Given the description of an element on the screen output the (x, y) to click on. 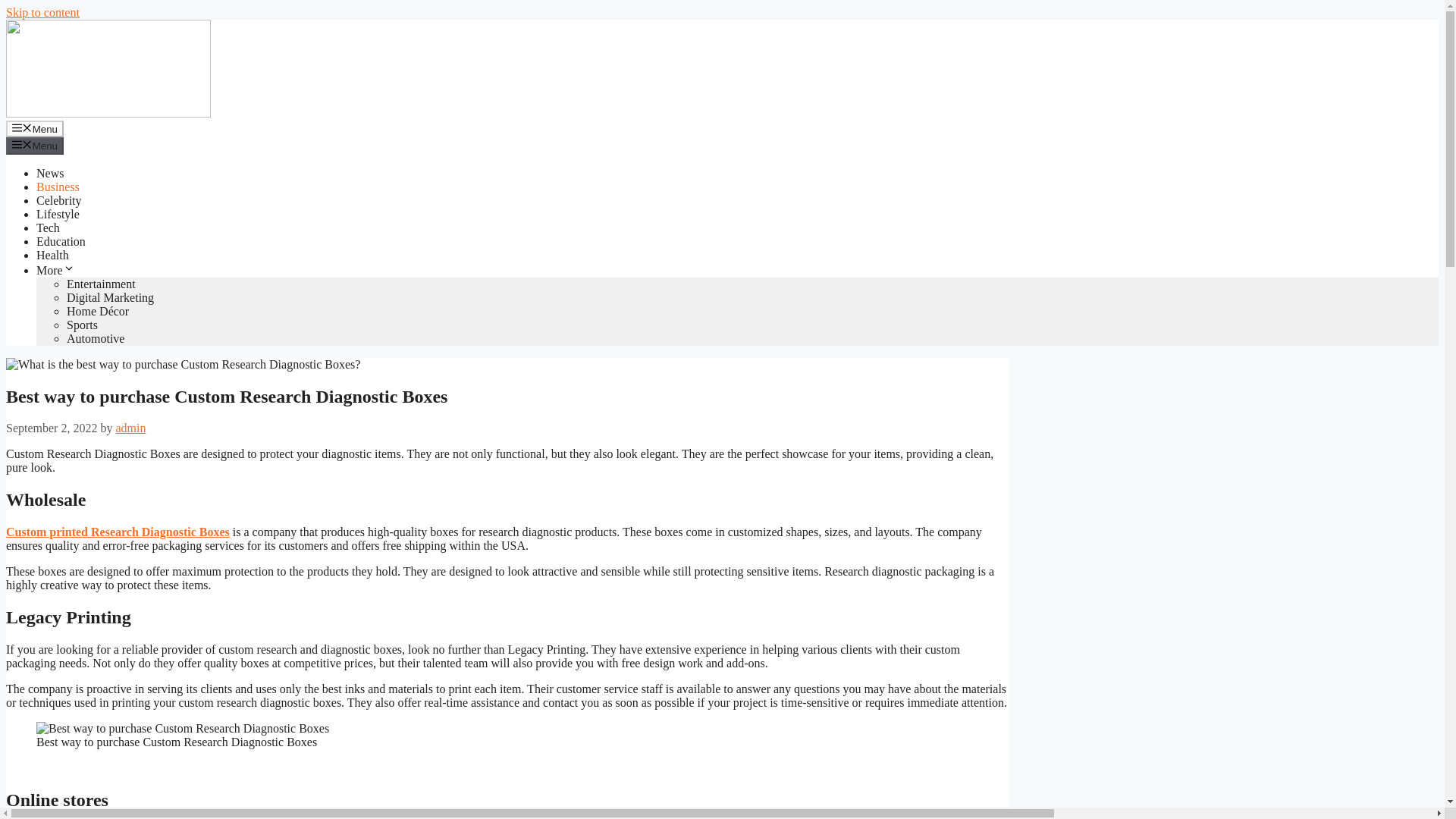
Skip to content (42, 11)
Education (60, 241)
Sports (81, 324)
admin (130, 427)
Entertainment (100, 283)
Health (52, 254)
Custom printed Research Diagnostic Boxes (117, 531)
More (55, 269)
Automotive (94, 338)
Celebrity (58, 200)
